Given the description of an element on the screen output the (x, y) to click on. 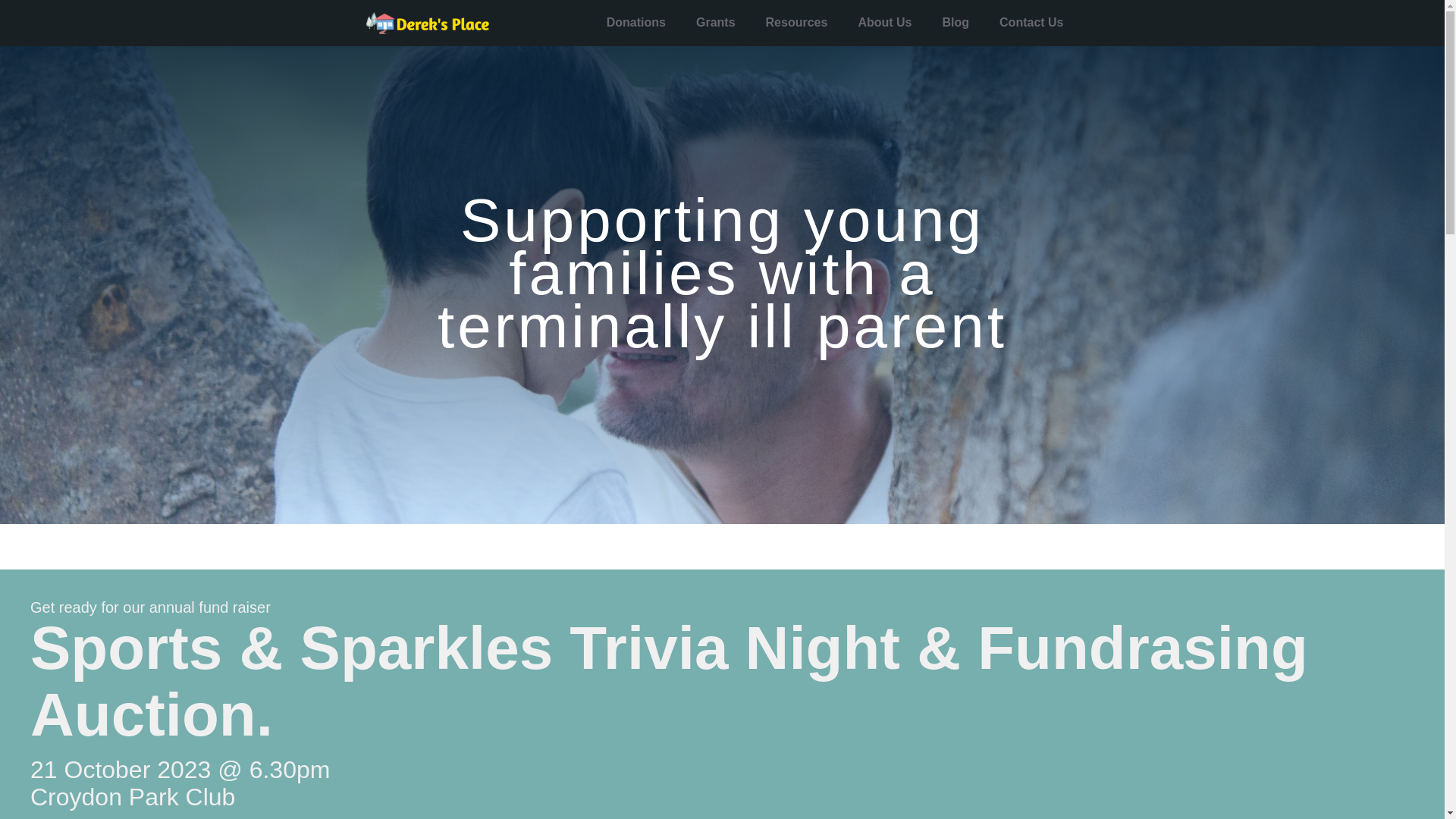
Blog Element type: text (955, 22)
Donations Element type: text (635, 22)
Resources Element type: text (796, 22)
About Us Element type: text (884, 22)
Contact Us Element type: text (1031, 22)
Grants Element type: text (715, 22)
